Given the description of an element on the screen output the (x, y) to click on. 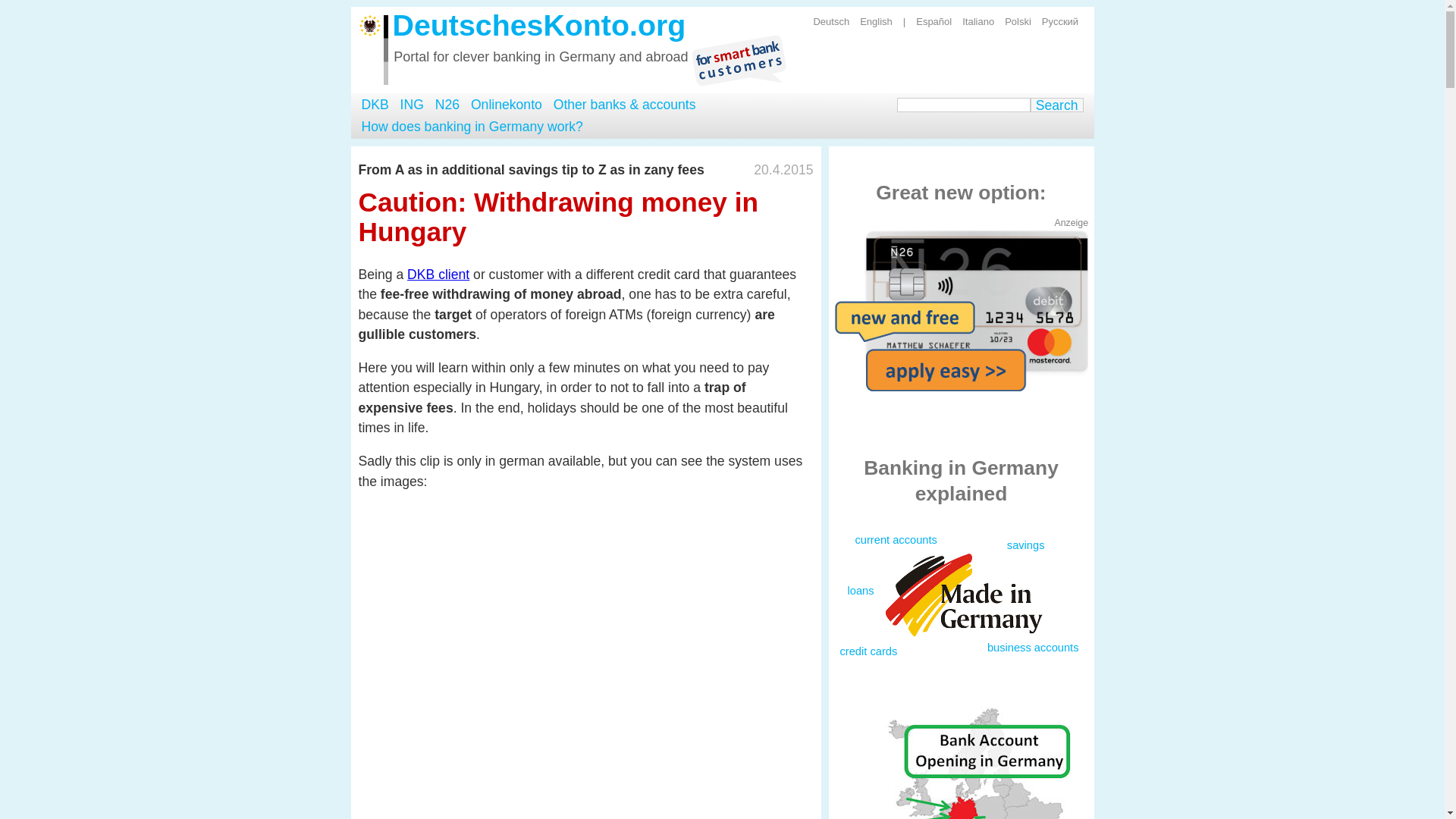
DeutschesKonto.org (539, 24)
ING (411, 104)
DKB (374, 104)
